Given the description of an element on the screen output the (x, y) to click on. 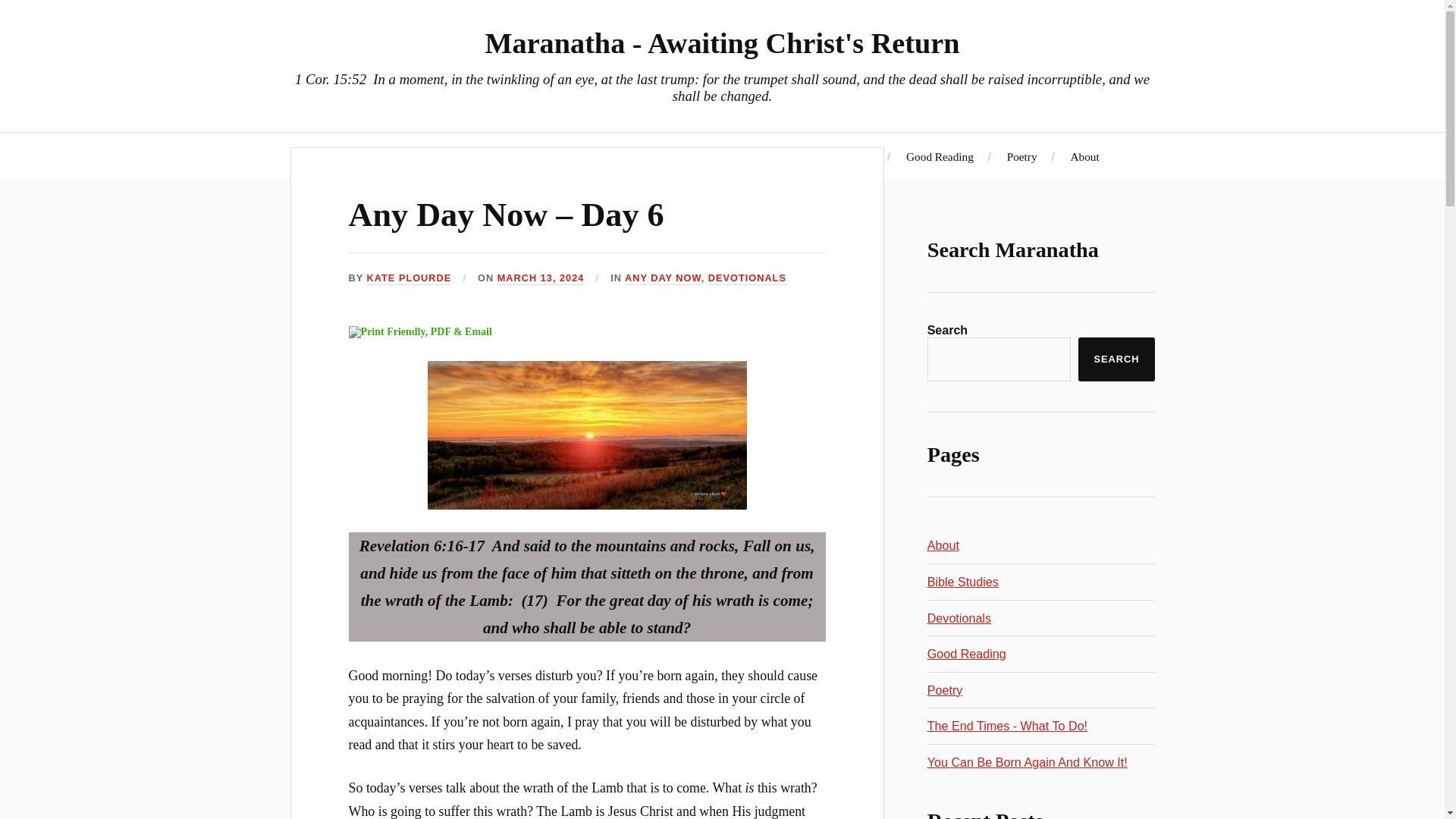
Devotionals (748, 156)
DEVOTIONALS (746, 278)
Bible Studies (841, 156)
ANY DAY NOW (662, 278)
How to be Born Again (635, 156)
Good Reading (939, 156)
KATE PLOURDE (408, 278)
SEARCH (1116, 359)
About (943, 545)
MARCH 13, 2024 (541, 278)
